Given the description of an element on the screen output the (x, y) to click on. 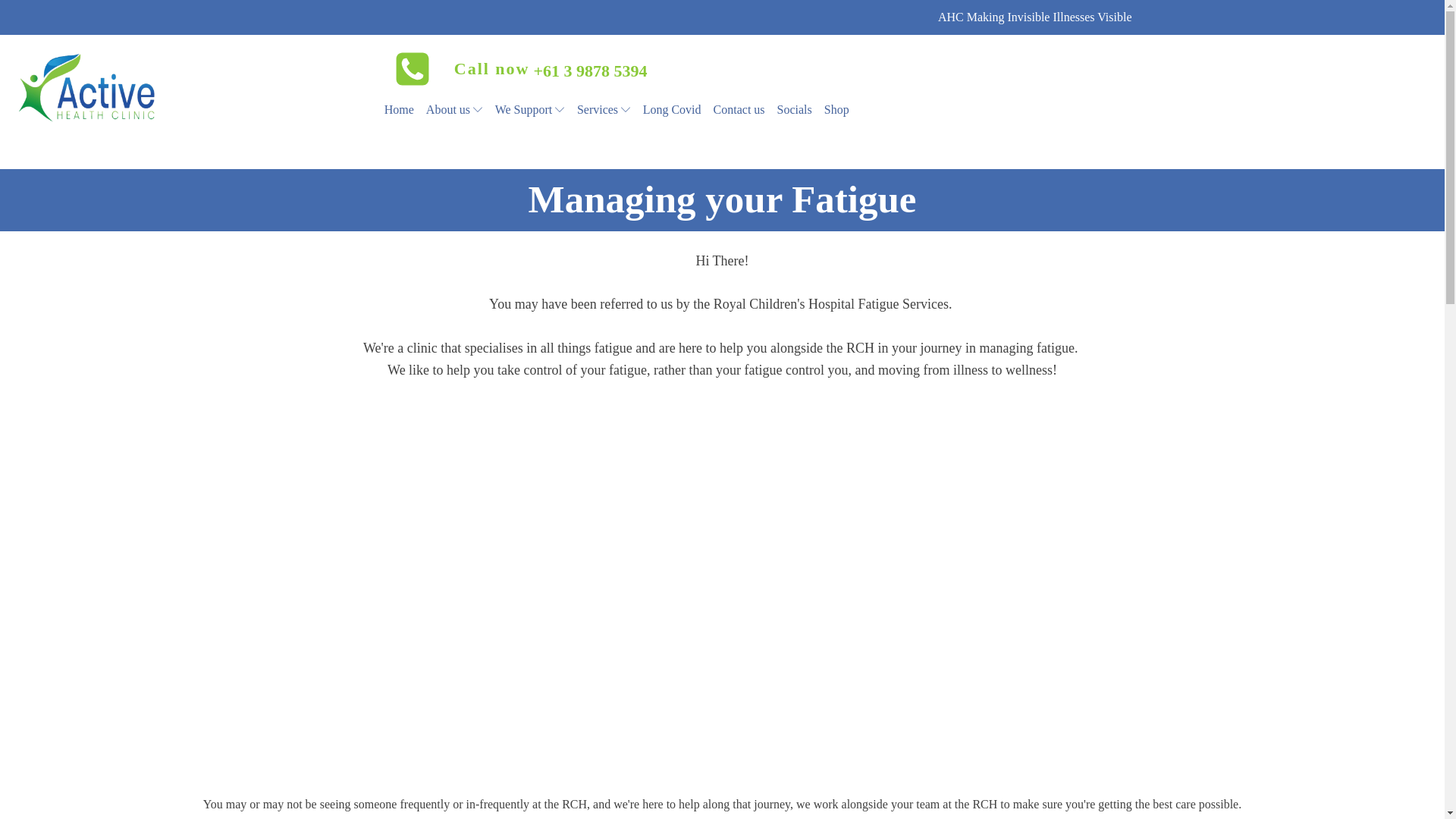
About us (454, 109)
We Support (529, 109)
Socials (794, 109)
Home (399, 109)
Contact us (739, 109)
Long Covid (672, 109)
Services (603, 109)
